Given the description of an element on the screen output the (x, y) to click on. 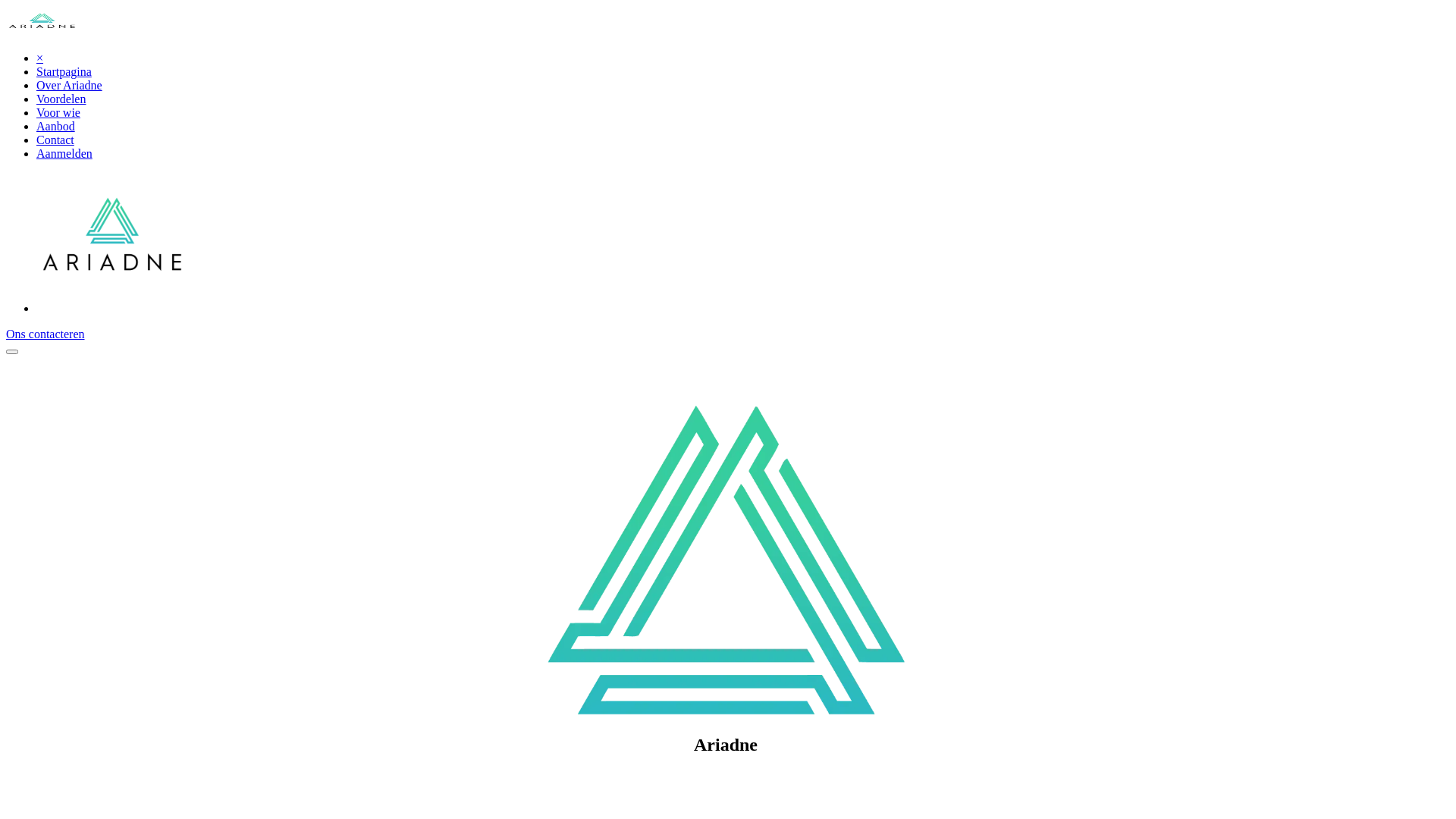
Voordelen Element type: text (60, 98)
Over Ariadne Element type: text (69, 84)
Contact Element type: text (55, 139)
Ariadne Element type: hover (42, 31)
Voor wie Element type: text (58, 112)
Startpagina Element type: text (63, 71)
Ons contacteren Element type: text (45, 333)
Ariadne Element type: hover (112, 307)
Aanbod Element type: text (55, 125)
Aanmelden Element type: text (64, 153)
